Given the description of an element on the screen output the (x, y) to click on. 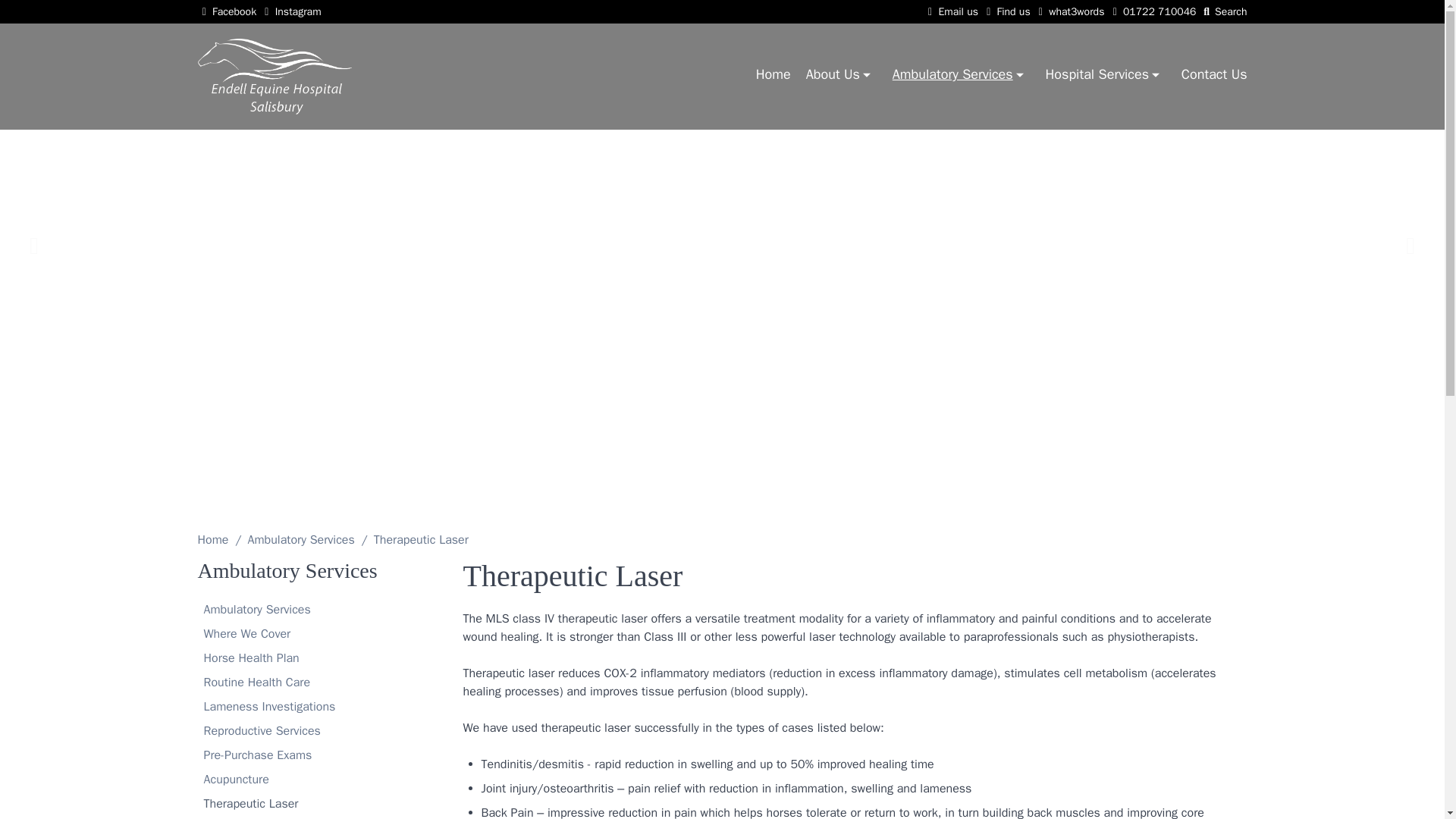
Instagram (290, 11)
Email us (950, 11)
Home (772, 74)
Ambulatory Services (959, 76)
About Us (839, 76)
Hospital Services (1103, 76)
Facebook (226, 11)
Find us (1005, 11)
what3words (1069, 11)
01722 710046 (1151, 11)
